Given the description of an element on the screen output the (x, y) to click on. 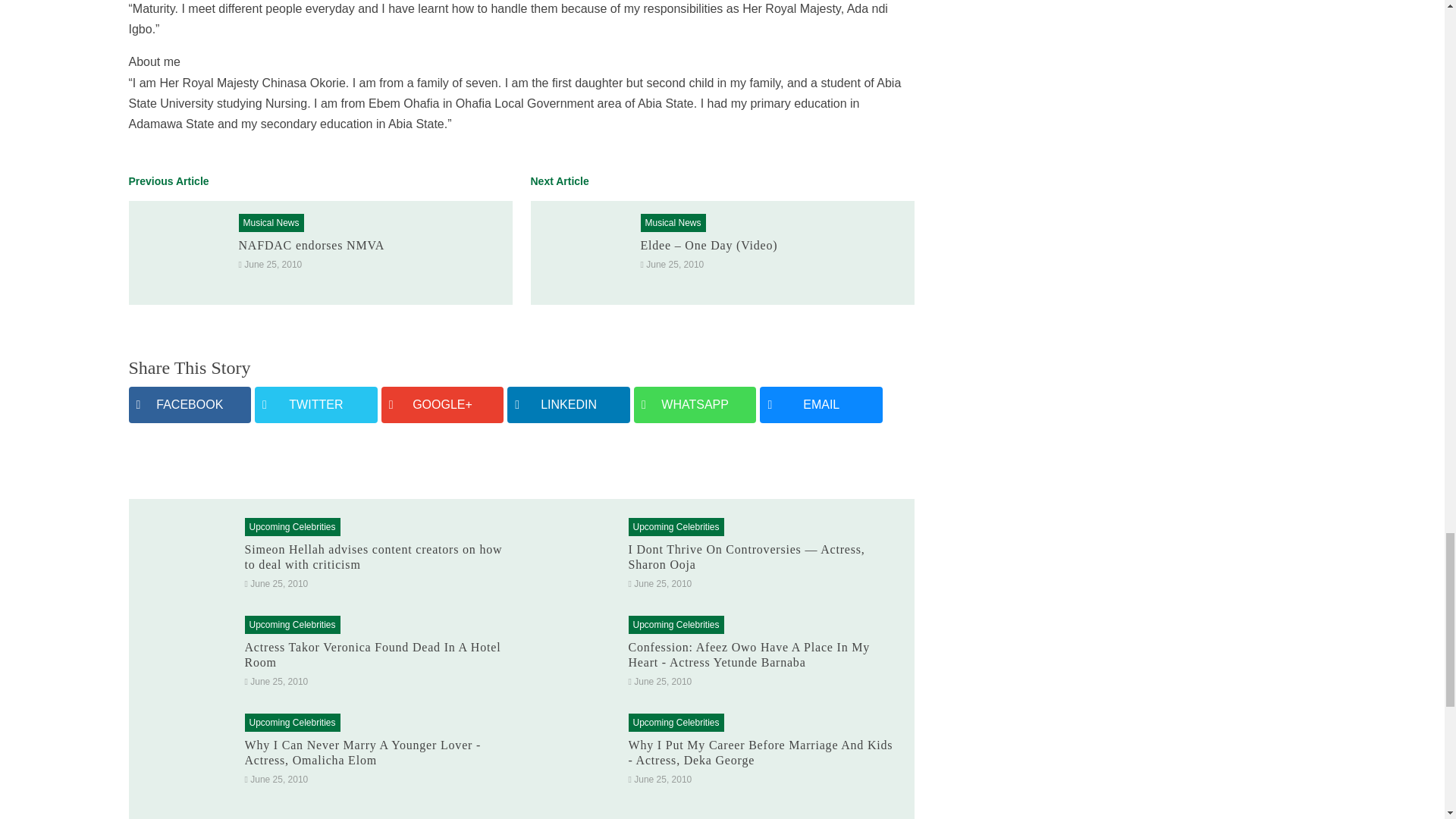
Musical News (270, 222)
Musical News (270, 222)
twitter (315, 404)
Musical News (672, 222)
linkedin (568, 404)
Musical News (672, 222)
facebook (190, 404)
FACEBOOK (190, 404)
googleplus (442, 404)
NAFDAC endorses NMVA (311, 245)
